Given the description of an element on the screen output the (x, y) to click on. 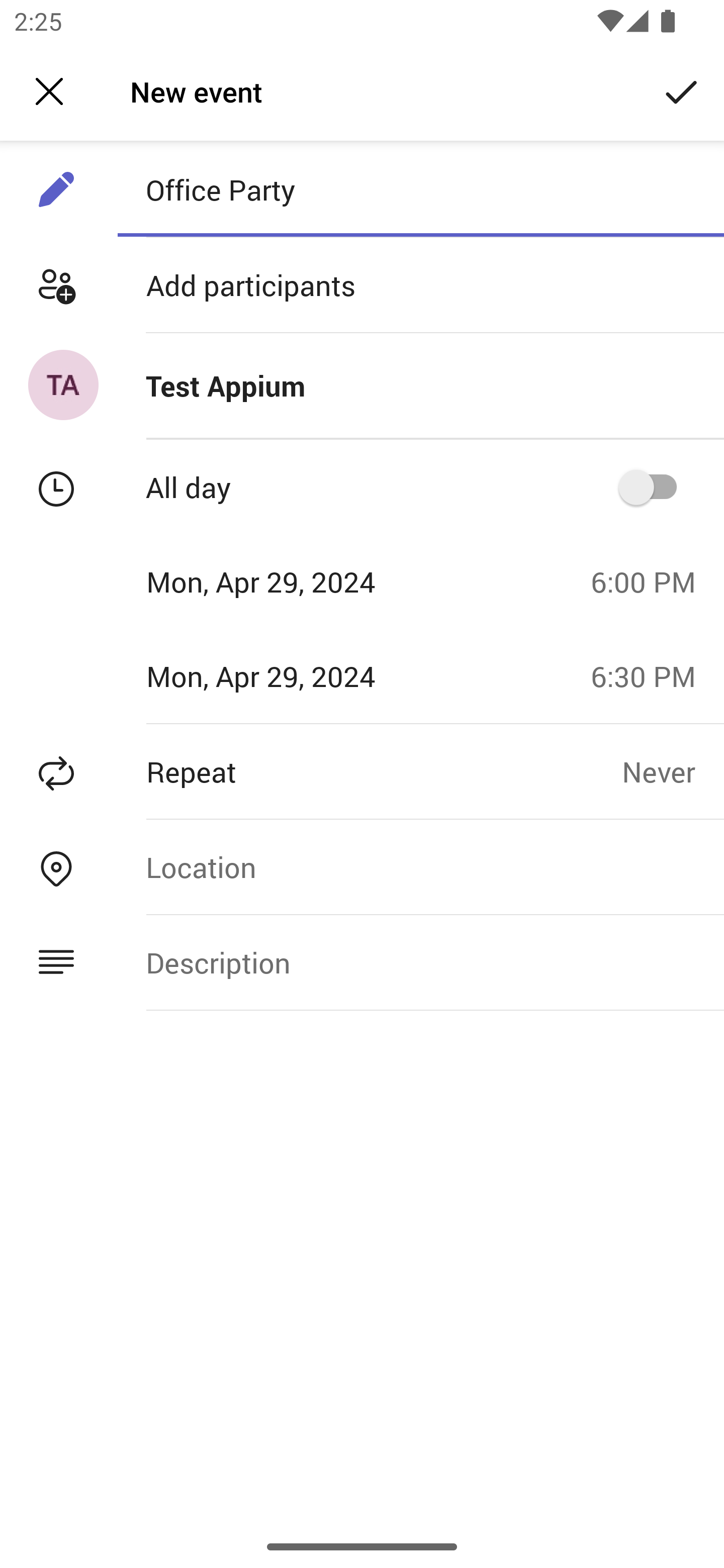
Back (49, 91)
Send invite (681, 90)
Office Party (420, 189)
Add participants Add participants option (362, 285)
All day (654, 486)
Mon, Apr 29, 2024 Starts Monday Apr 29, 2024 (288, 581)
6:00 PM Start time 6:00 PM (650, 581)
Mon, Apr 29, 2024 Ends Monday Apr 29, 2024 (288, 675)
6:30 PM End time 6:30 PM (650, 675)
Repeat (310, 771)
Never Repeat Never (672, 771)
Location (420, 867)
Description (420, 962)
